Given the description of an element on the screen output the (x, y) to click on. 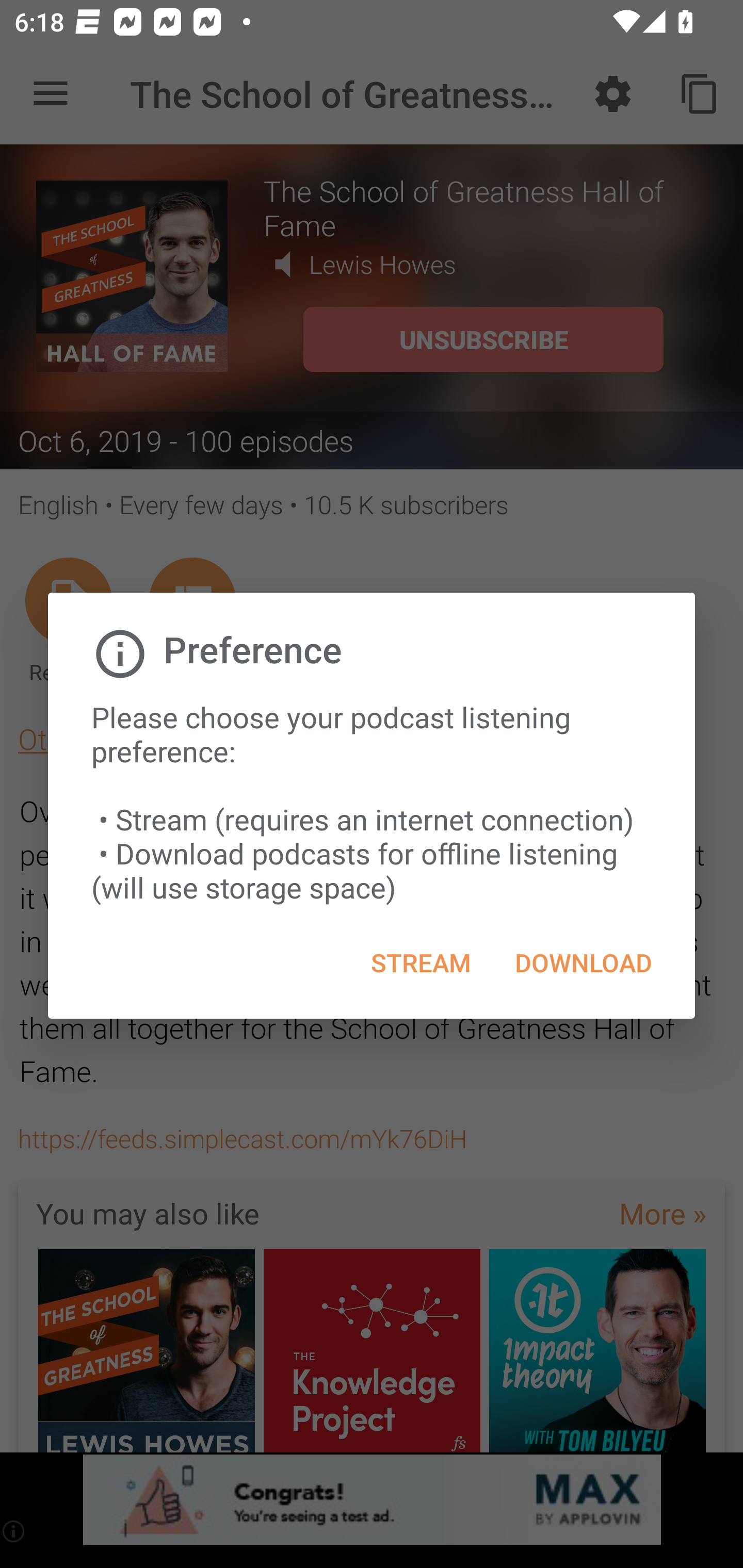
STREAM (420, 962)
DOWNLOAD (582, 962)
